Given the description of an element on the screen output the (x, y) to click on. 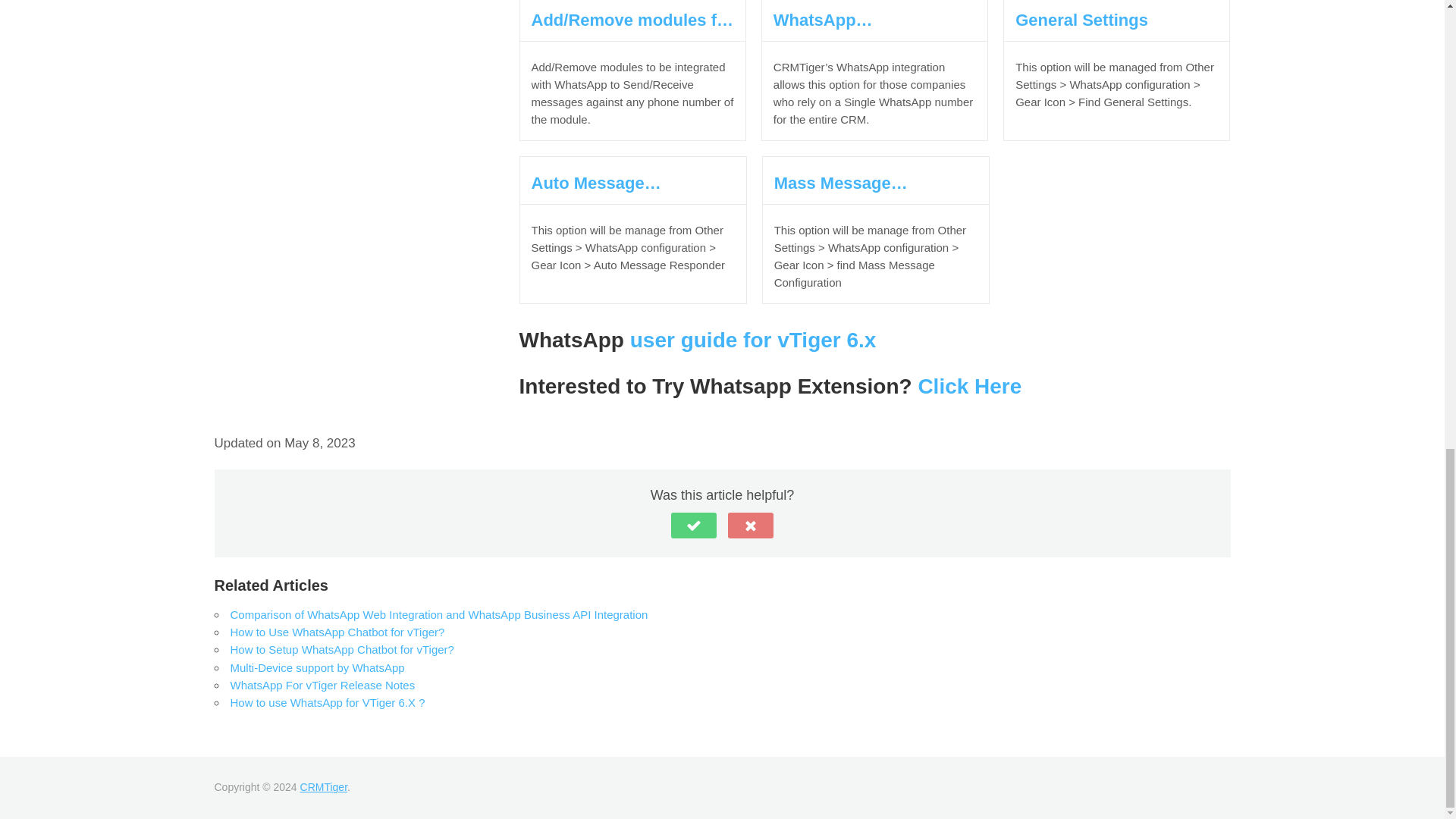
CRMTiger (323, 787)
Auto Message Responder (632, 182)
WhatsApp For vTiger Release Notes (322, 684)
Click Here (969, 386)
How to use WhatsApp for VTiger 6.X ? (327, 702)
Multi-Device support by WhatsApp (317, 667)
How to Use WhatsApp Chatbot for vTiger? (337, 631)
How to Setup WhatsApp Chatbot for vTiger? (342, 649)
Mass Message Configuration (875, 182)
General Settings (1115, 19)
user guide for vTiger 6.x (750, 340)
